Given the description of an element on the screen output the (x, y) to click on. 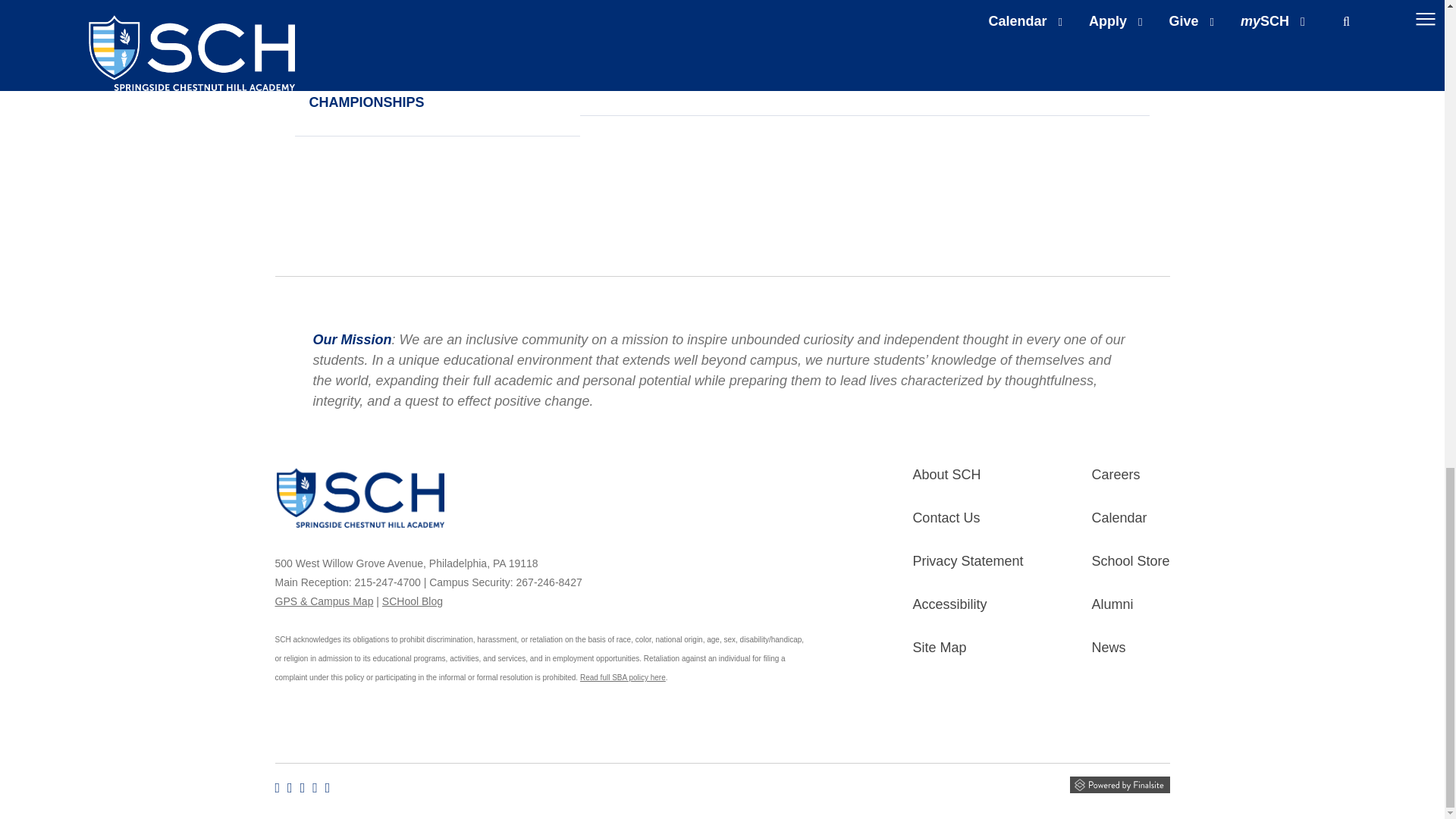
CI Summit (690, 6)
RENTR  (976, 6)
Jackson Erdos (405, 6)
